Given the description of an element on the screen output the (x, y) to click on. 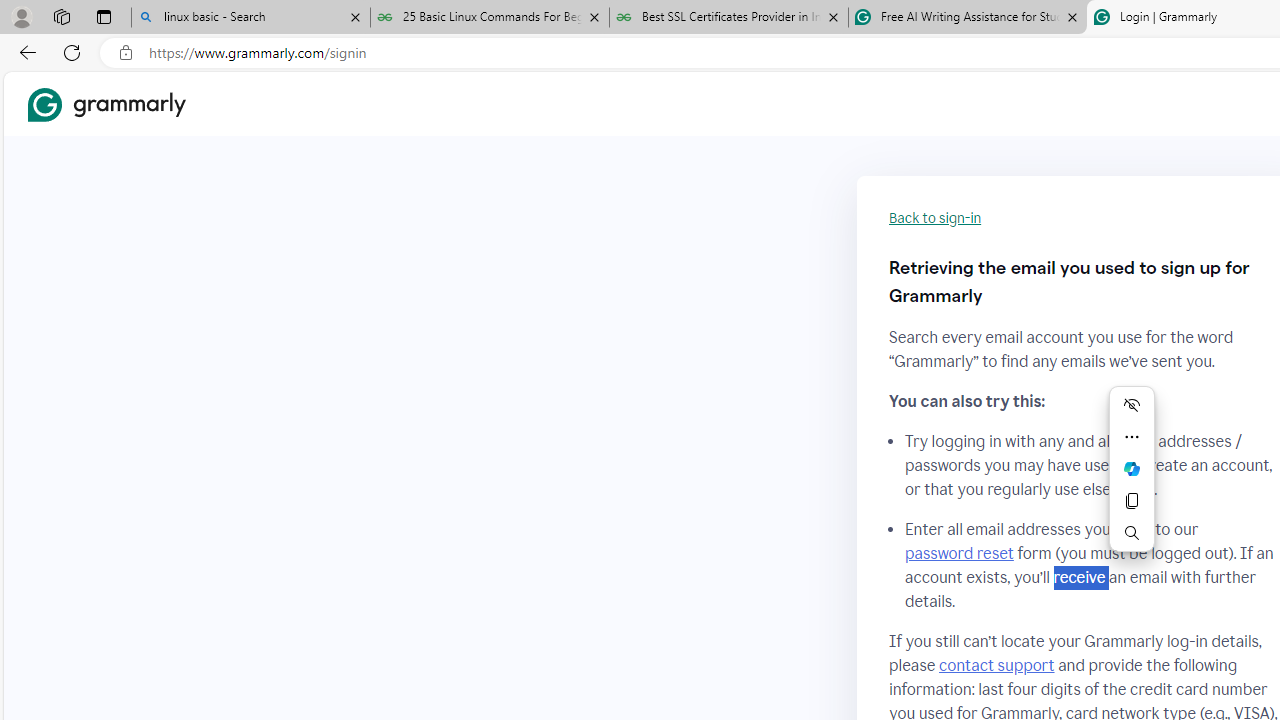
contact support (996, 665)
password reset (958, 553)
Hide menu (1131, 404)
Copy (1131, 500)
More actions (1131, 436)
